Given the description of an element on the screen output the (x, y) to click on. 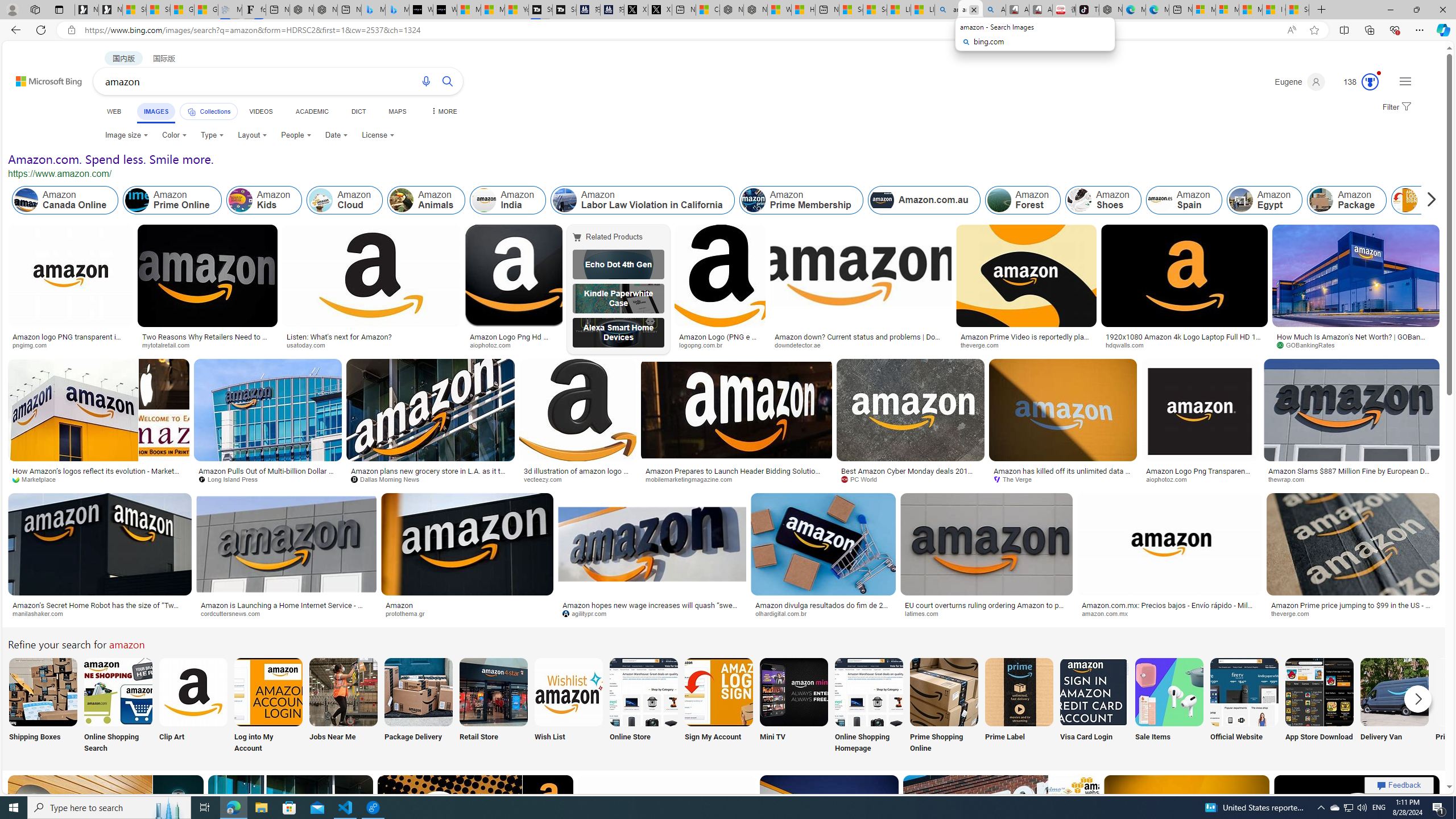
WEB (114, 111)
Layout (252, 135)
ACADEMIC (311, 111)
Official Website (1243, 706)
Prime Shopping Online (944, 706)
The Verge (1015, 479)
Amazon Echo Robot - Search Images (993, 9)
Amazon Package (1320, 200)
